Given the description of an element on the screen output the (x, y) to click on. 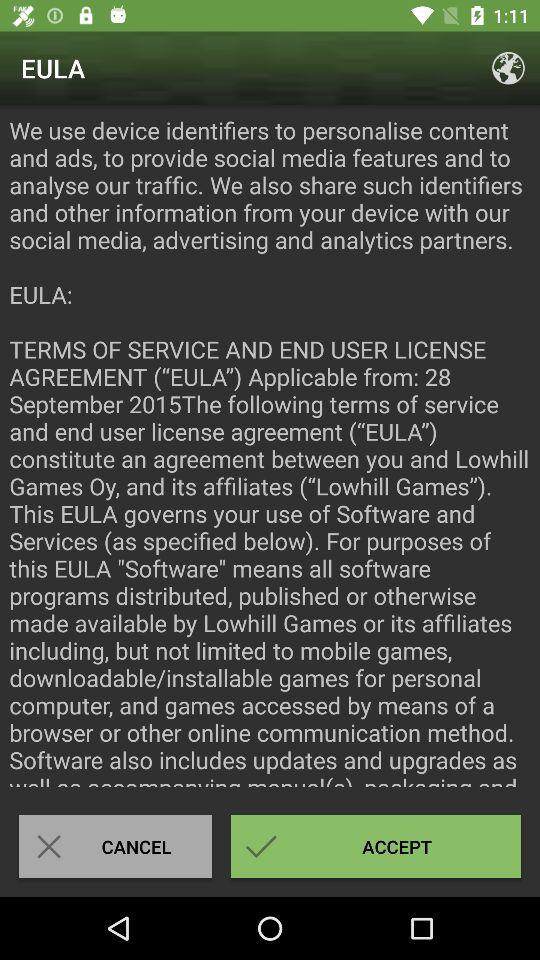
open the icon above the we use device icon (508, 67)
